Given the description of an element on the screen output the (x, y) to click on. 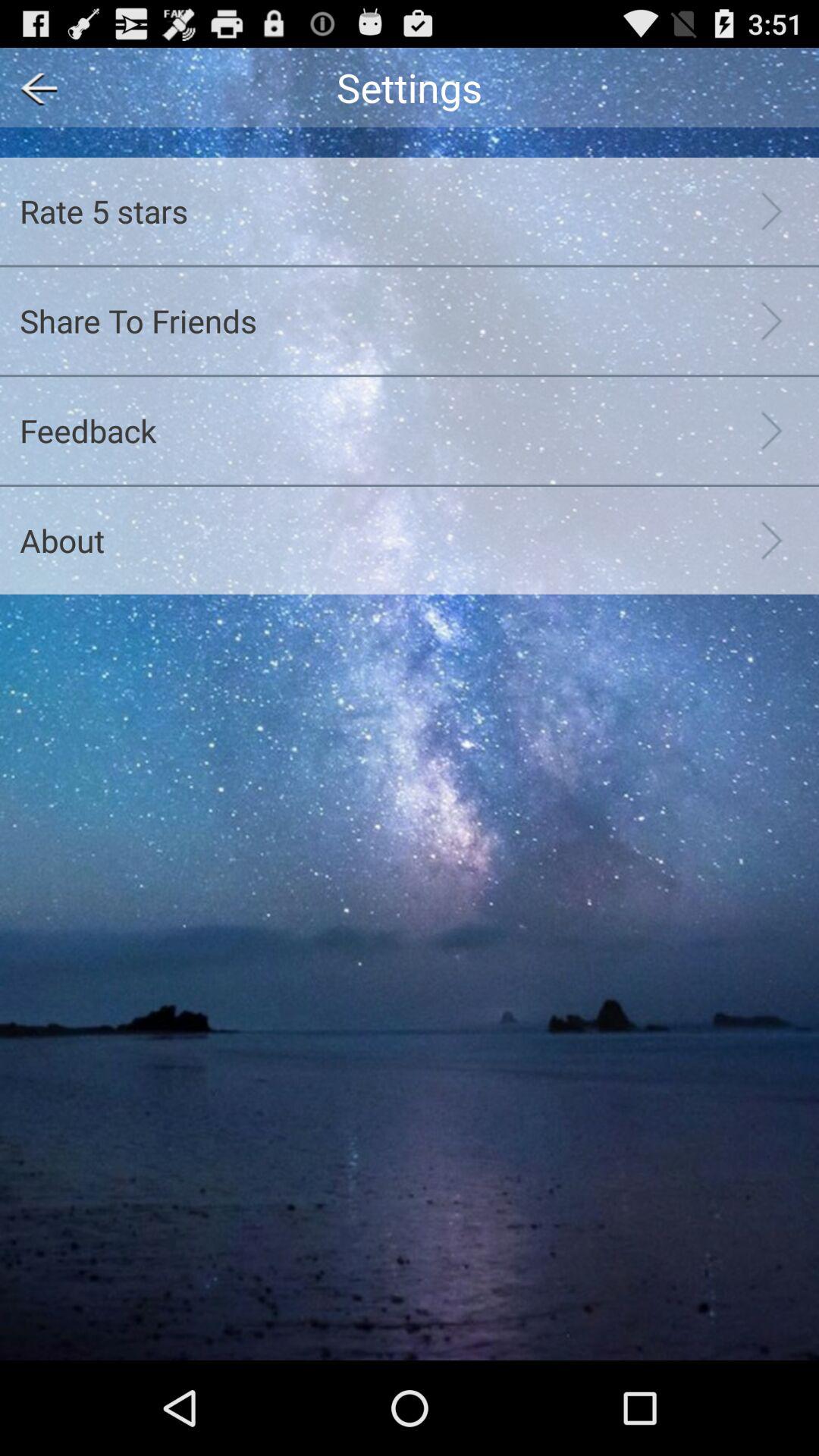
launch item next to the settings item (33, 87)
